Given the description of an element on the screen output the (x, y) to click on. 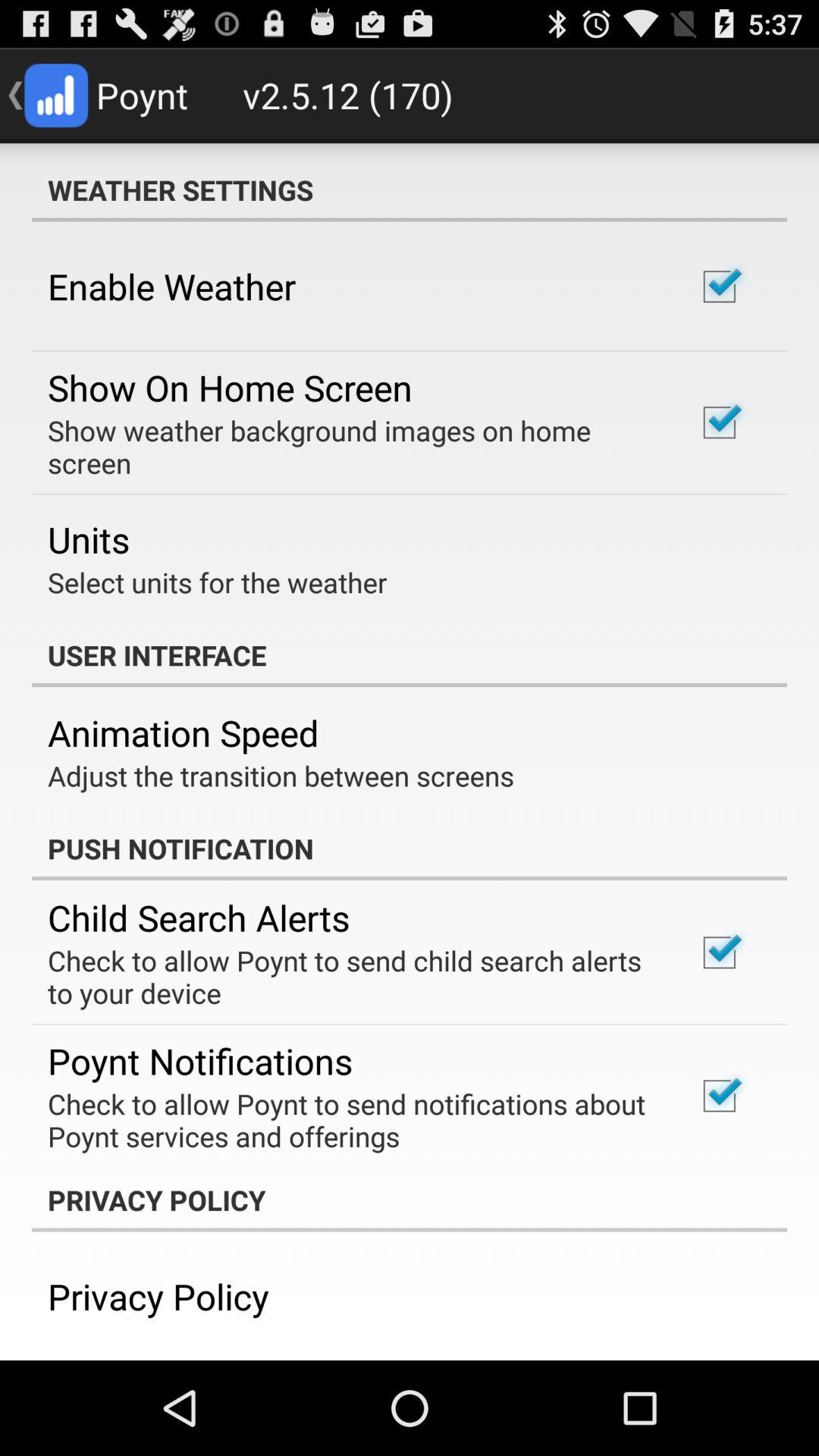
select the item below select units for item (409, 655)
